Given the description of an element on the screen output the (x, y) to click on. 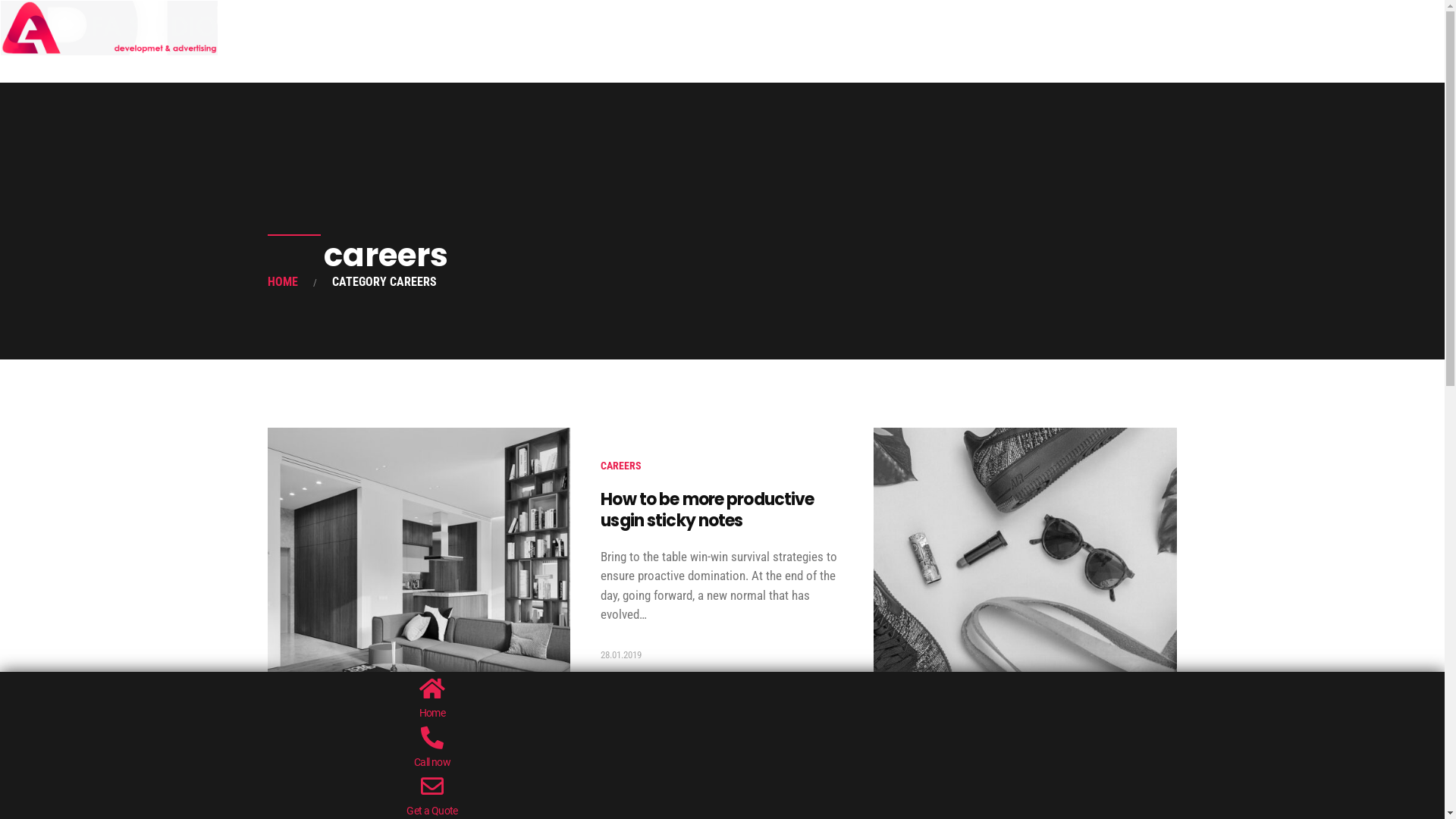
Home Element type: text (432, 712)
How to be more productive usgin sticky notes Element type: text (706, 510)
PPC advertising Element type: text (390, 69)
CAREERS Element type: text (620, 465)
HOME Element type: text (281, 281)
Main Element type: text (12, 69)
SEO Element type: text (476, 69)
Contact us Element type: text (548, 69)
Call now Element type: text (432, 762)
Web design Element type: text (86, 69)
CAREERS Element type: text (317, 784)
CAREERS Element type: text (923, 784)
Get a Quote Element type: text (432, 810)
Design Element type: text (297, 69)
Corporate identity Element type: text (198, 69)
MARKETING Element type: text (976, 784)
